Given the description of an element on the screen output the (x, y) to click on. 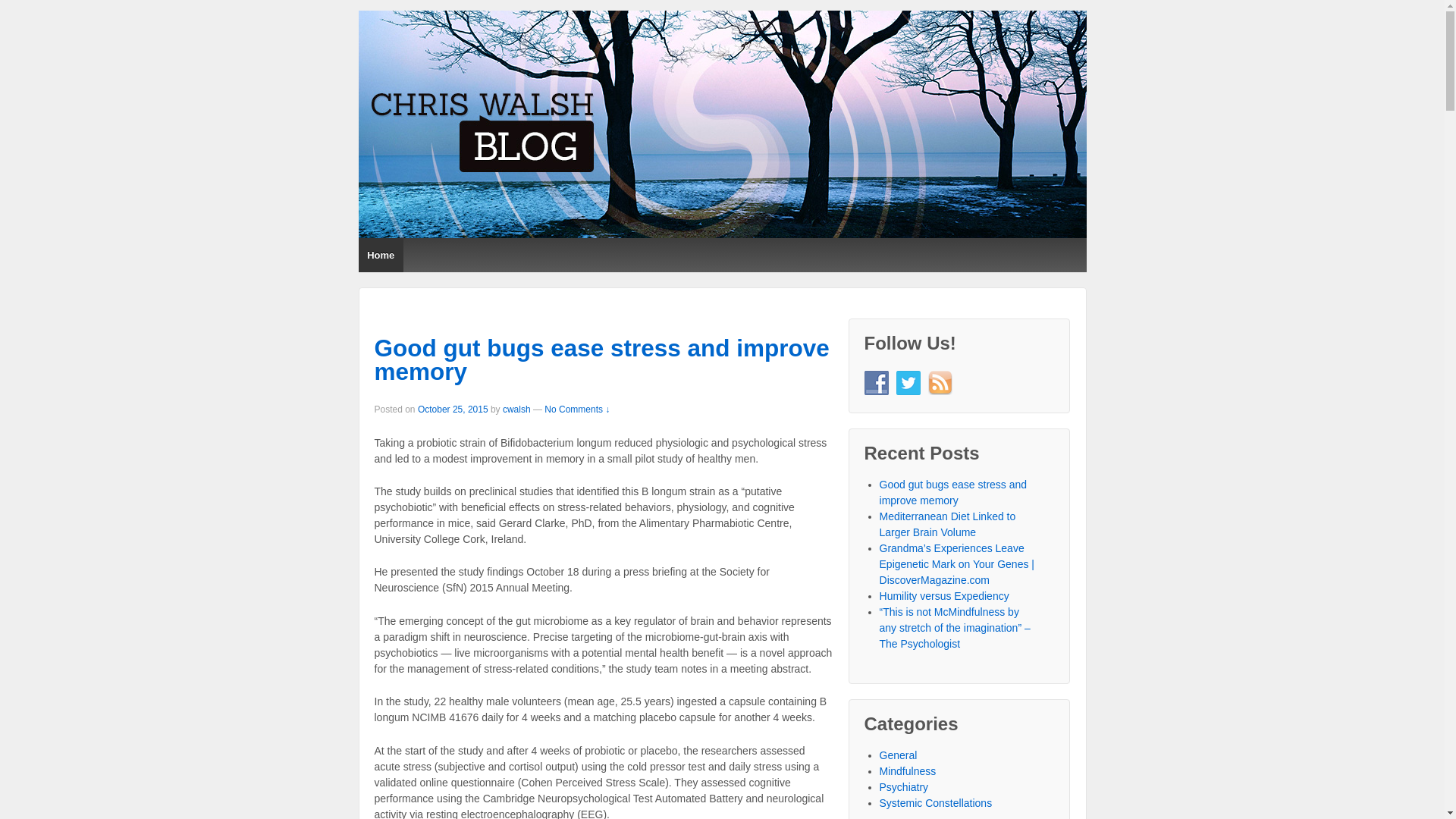
Humility versus Expediency Element type: text (944, 595)
Mindfulness Element type: text (907, 771)
Systemic Constellations Element type: text (935, 803)
Good gut bugs ease stress and improve memory Element type: text (601, 359)
Psychiatry Element type: text (903, 787)
October 25, 2015 Element type: text (452, 409)
Follow Us on Facebook Element type: hover (876, 382)
General Element type: text (898, 755)
Follow Us on RSS Element type: hover (940, 382)
Home Element type: text (380, 255)
Follow Us on Twitter Element type: hover (908, 382)
Mediterranean Diet Linked to Larger Brain Volume Element type: text (947, 524)
Good gut bugs ease stress and improve memory Element type: text (953, 492)
cwalsh Element type: text (516, 409)
